Given the description of an element on the screen output the (x, y) to click on. 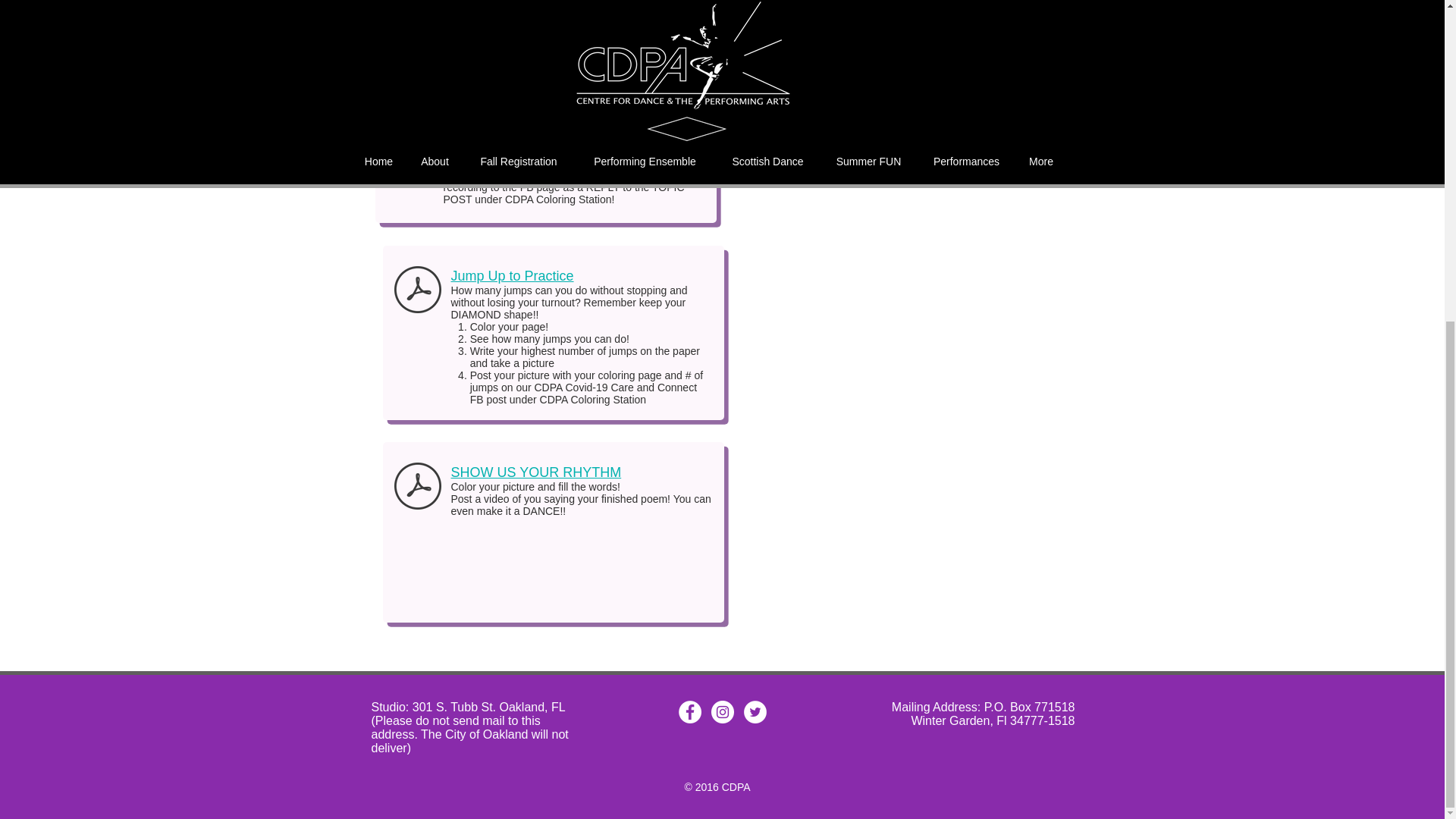
LOVE TO DANCE (485, 138)
I CAN DANCE SUMMER COLOR.pdf (408, 155)
SHOW US YOUR RHYTHM (535, 472)
Pretty on Pointe.pdf (408, 21)
jump up.pdf (417, 291)
Jump Up to Practice (511, 275)
tap shoes.pdf (417, 486)
